Given the description of an element on the screen output the (x, y) to click on. 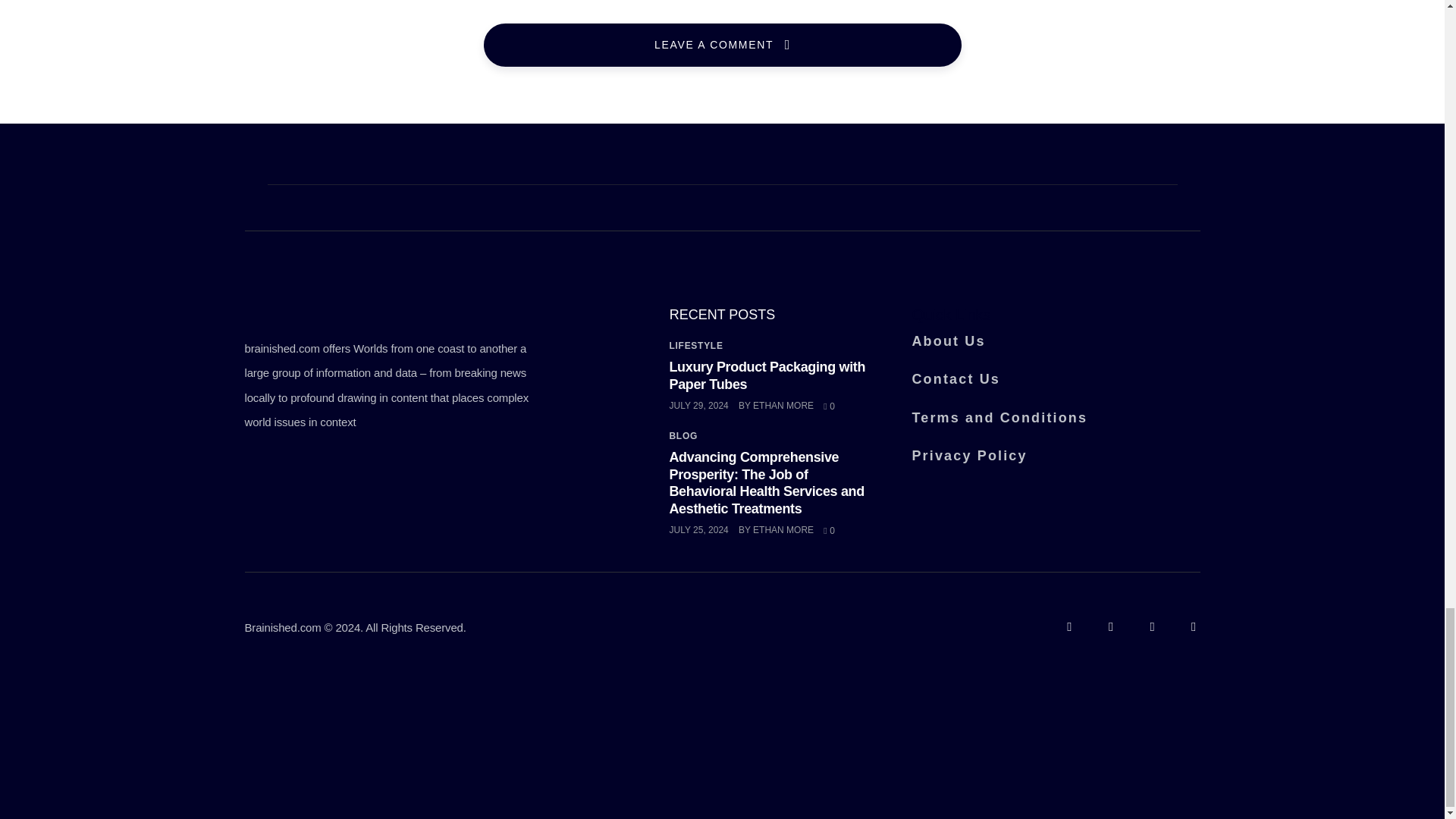
View all posts in Lifestyle (695, 345)
View all posts in blog (682, 435)
